Given the description of an element on the screen output the (x, y) to click on. 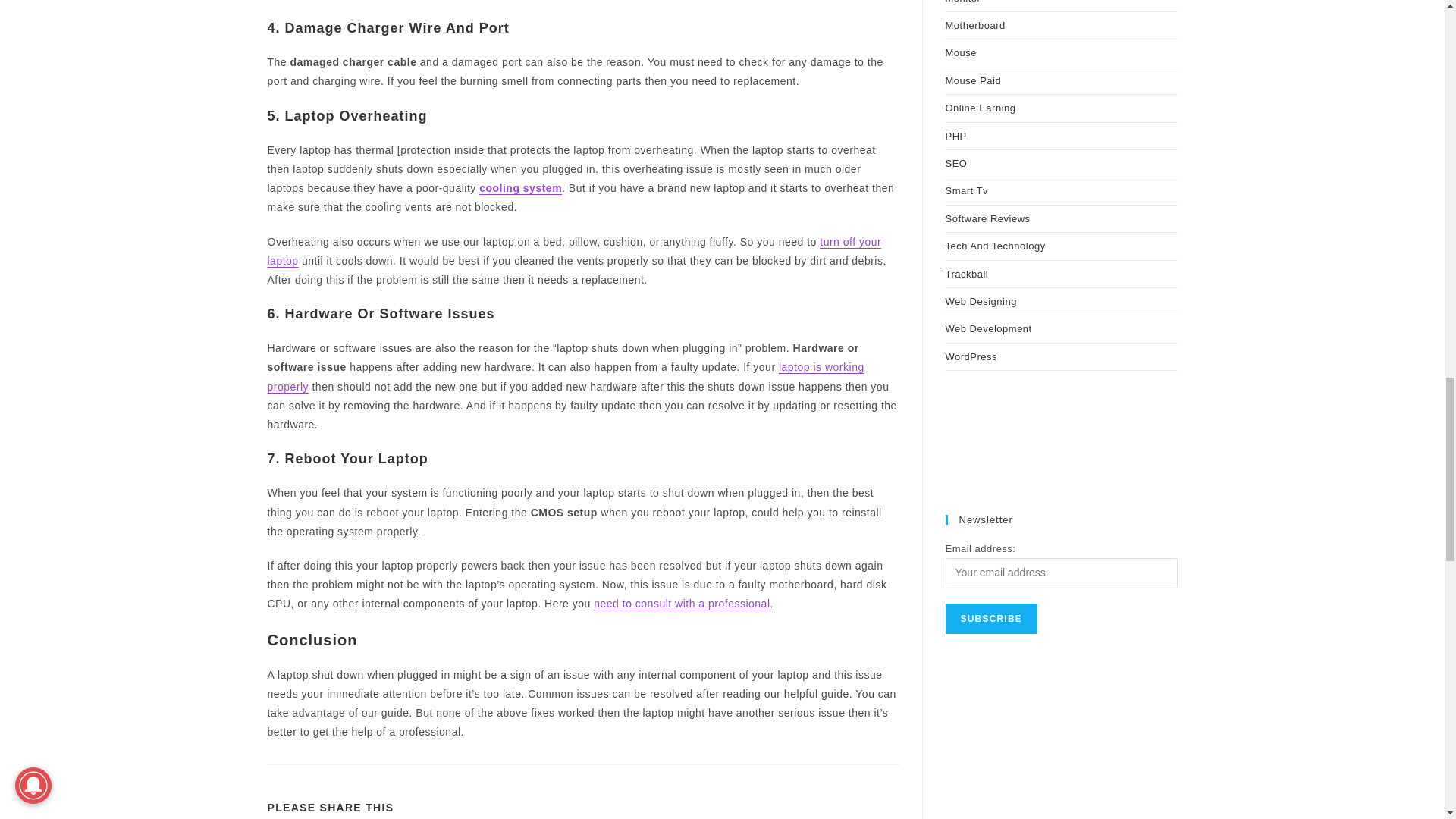
subscribe (990, 618)
